Given the description of an element on the screen output the (x, y) to click on. 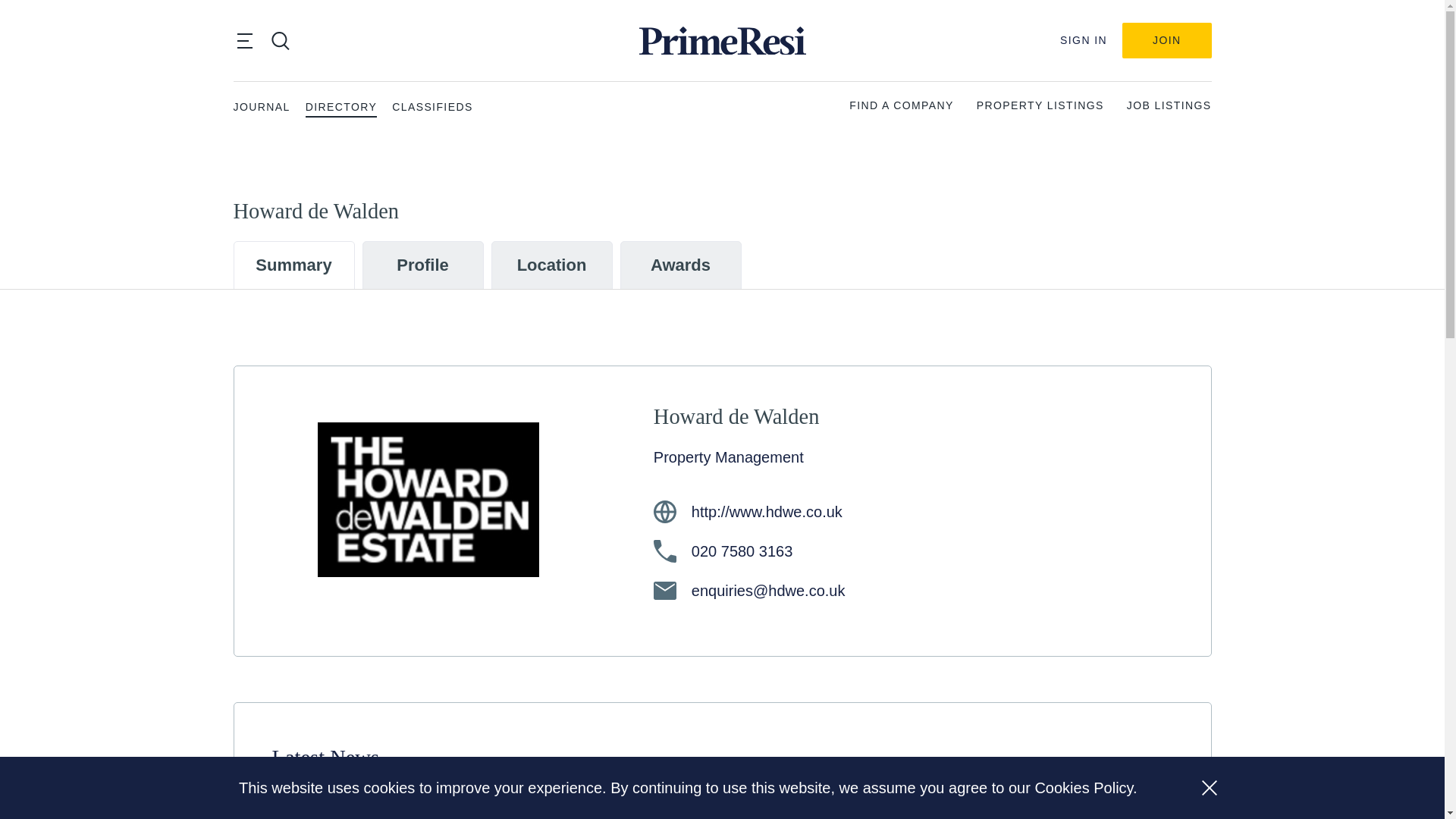
SIGN IN (1082, 40)
PROPERTY LISTINGS (1039, 105)
JOIN (1166, 40)
JOB LISTINGS (1168, 105)
CLASSIFIEDS (431, 107)
DIRECTORY (341, 107)
FIND A COMPANY (900, 105)
Join (1166, 40)
JOURNAL (260, 107)
